Given the description of an element on the screen output the (x, y) to click on. 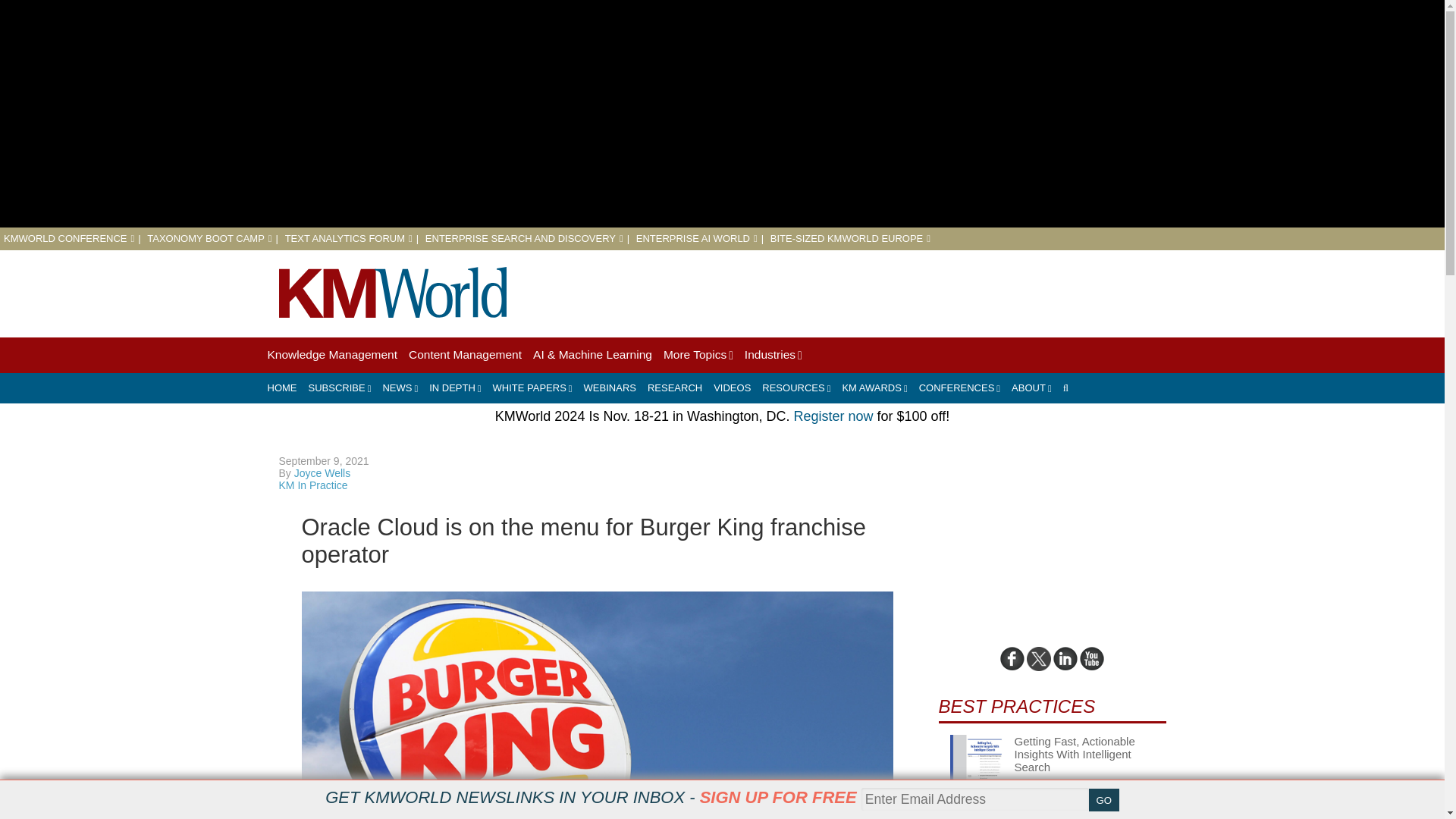
Knowledge Management (331, 355)
GET KMWORLD NEWSLINKS IN YOUR INBOX - SIGN UP FOR FREE (590, 797)
More Topics (698, 355)
ENTERPRISE AI WORLD (696, 238)
Industries (773, 355)
Knowledge Management (331, 355)
BITE-SIZED KMWORLD EUROPE (850, 238)
Content Management (465, 355)
3rd party ad content (890, 291)
KMWORLD CONFERENCE (68, 238)
GO (1104, 799)
TEXT ANALYTICS FORUM (348, 238)
TAXONOMY BOOT CAMP (208, 238)
Content Management (465, 355)
